Given the description of an element on the screen output the (x, y) to click on. 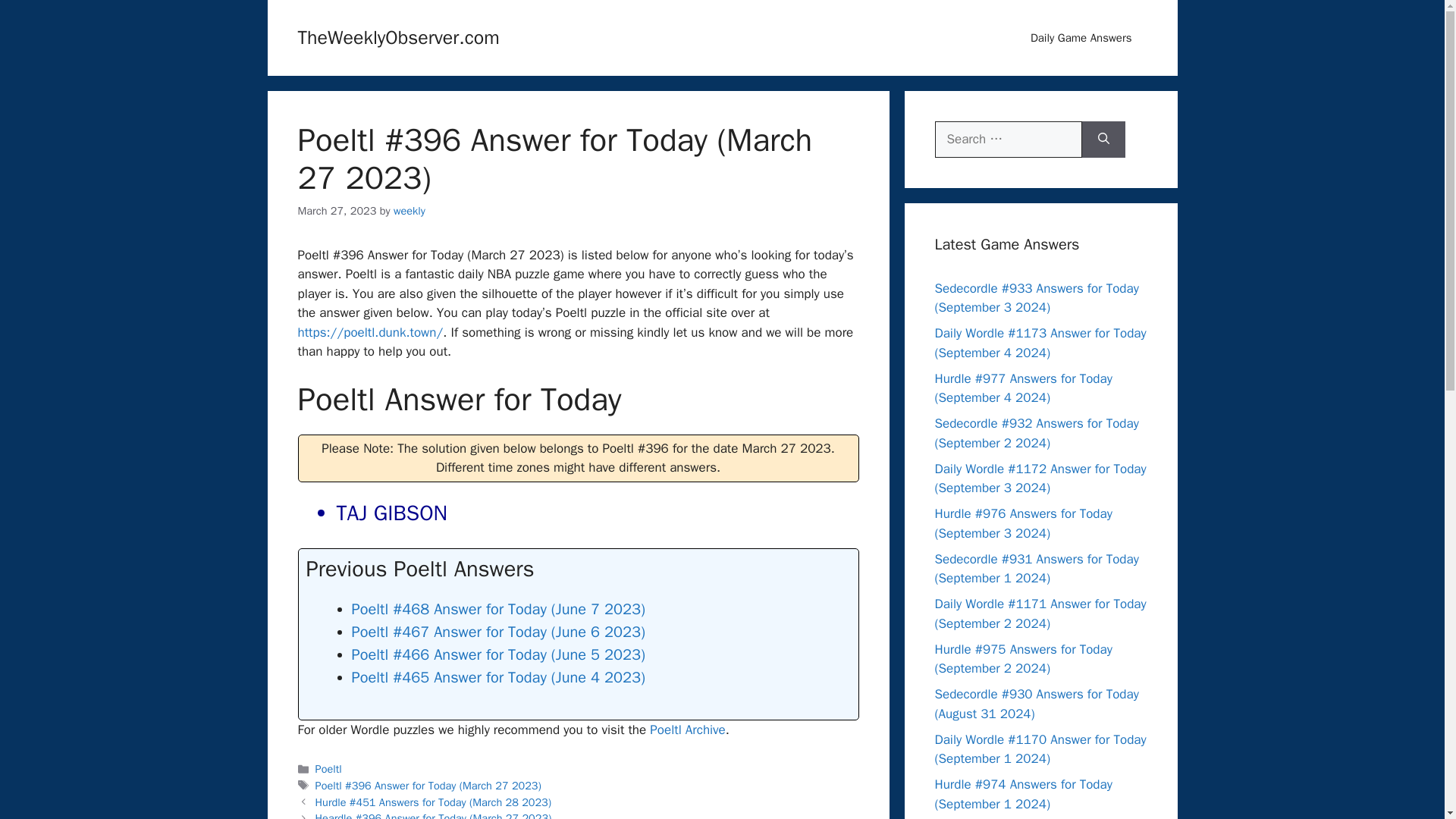
Daily Game Answers (1080, 37)
Next (433, 815)
TheWeeklyObserver.com (398, 37)
Previous (433, 802)
Poeltl Archive (687, 729)
Poeltl (328, 768)
Search for: (1007, 139)
weekly (409, 210)
View all posts by weekly (409, 210)
